Given the description of an element on the screen output the (x, y) to click on. 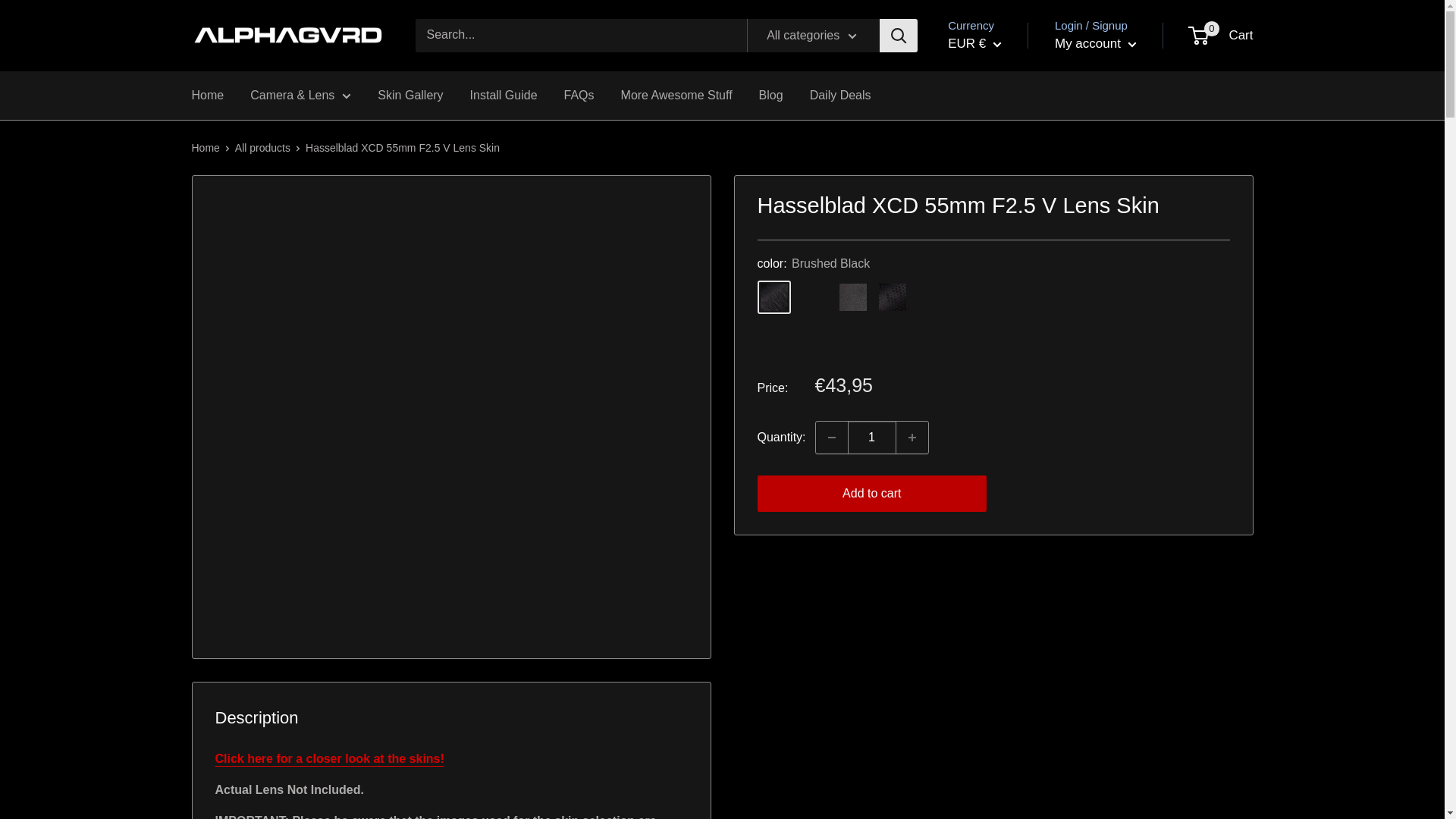
BND (998, 462)
Blue Mamba (970, 297)
AUD (998, 300)
AWG (998, 324)
Urban Camo (1207, 297)
BBD (998, 393)
1 (871, 437)
BSD (998, 509)
BDT (998, 416)
ALL (998, 231)
Gold Blossom (970, 336)
BOB (998, 485)
Mid Knight (813, 336)
Mid Knight Blue (852, 336)
BGN (998, 439)
